Given the description of an element on the screen output the (x, y) to click on. 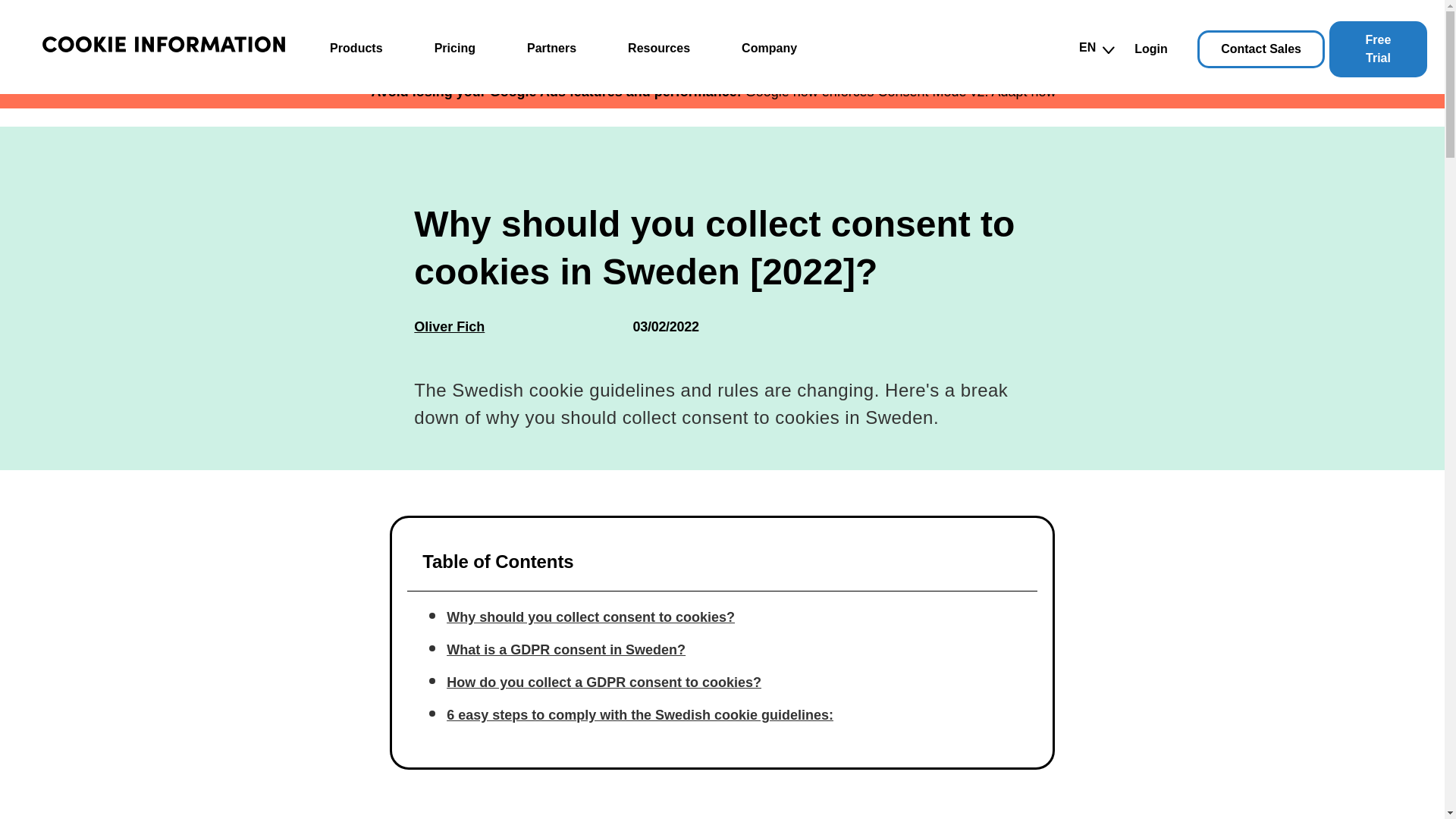
Resources (658, 48)
Partners (551, 48)
Pricing (454, 48)
Products (356, 48)
